Given the description of an element on the screen output the (x, y) to click on. 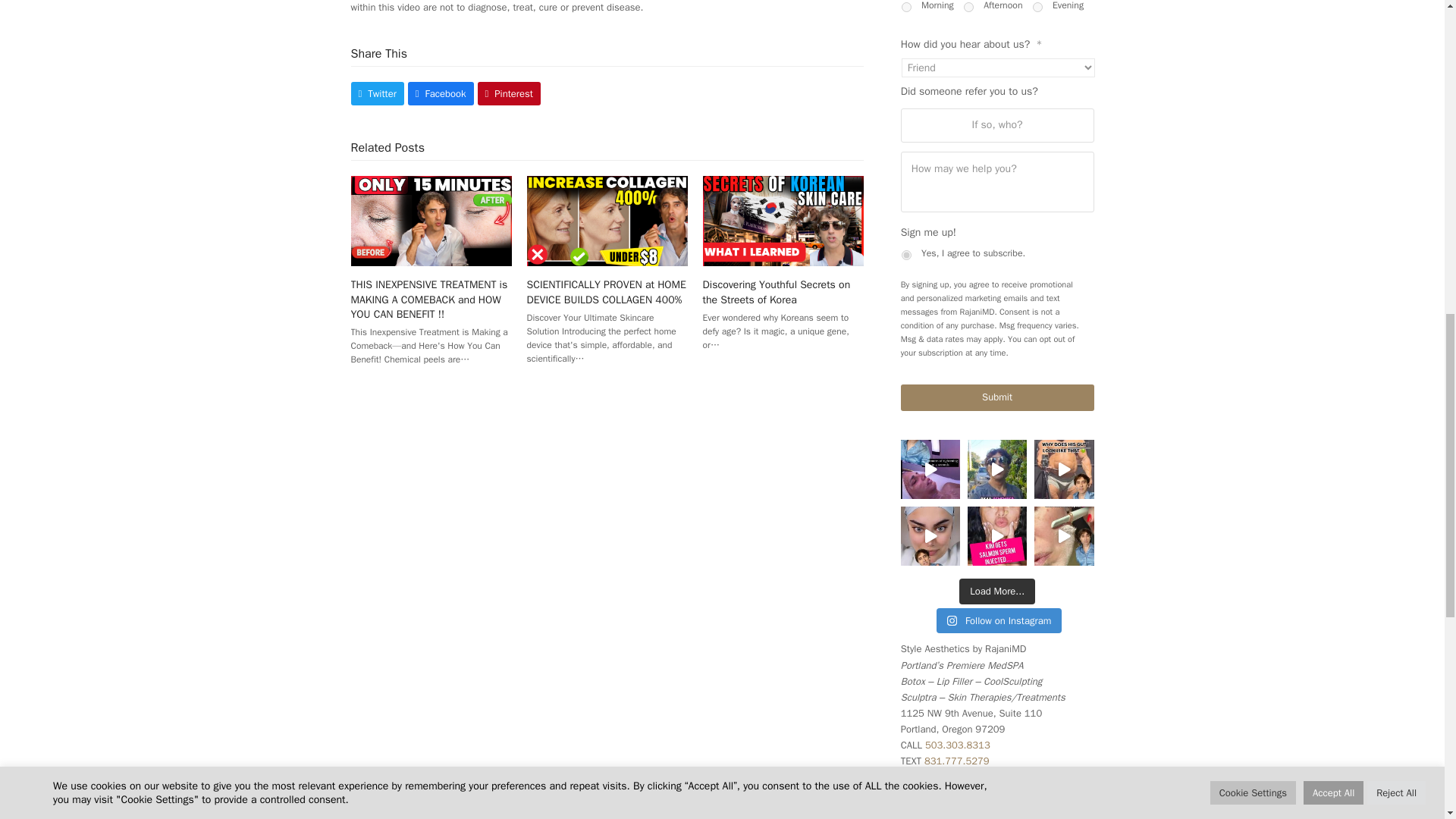
Morning (906, 7)
Discovering Youthful Secrets on the Streets of Korea (783, 219)
